Given the description of an element on the screen output the (x, y) to click on. 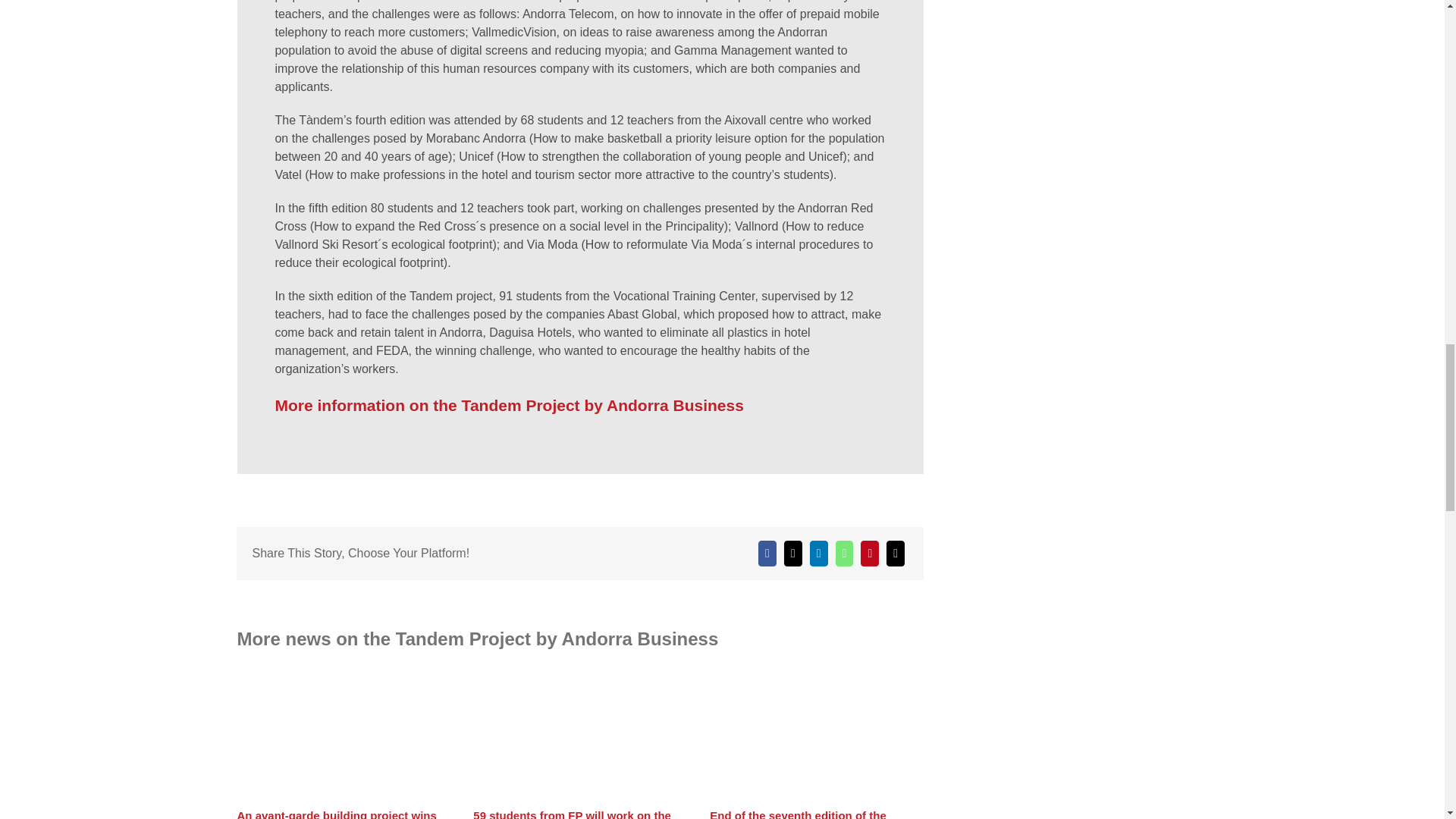
Share This Story, Choose Your Platform! (579, 531)
